Given the description of an element on the screen output the (x, y) to click on. 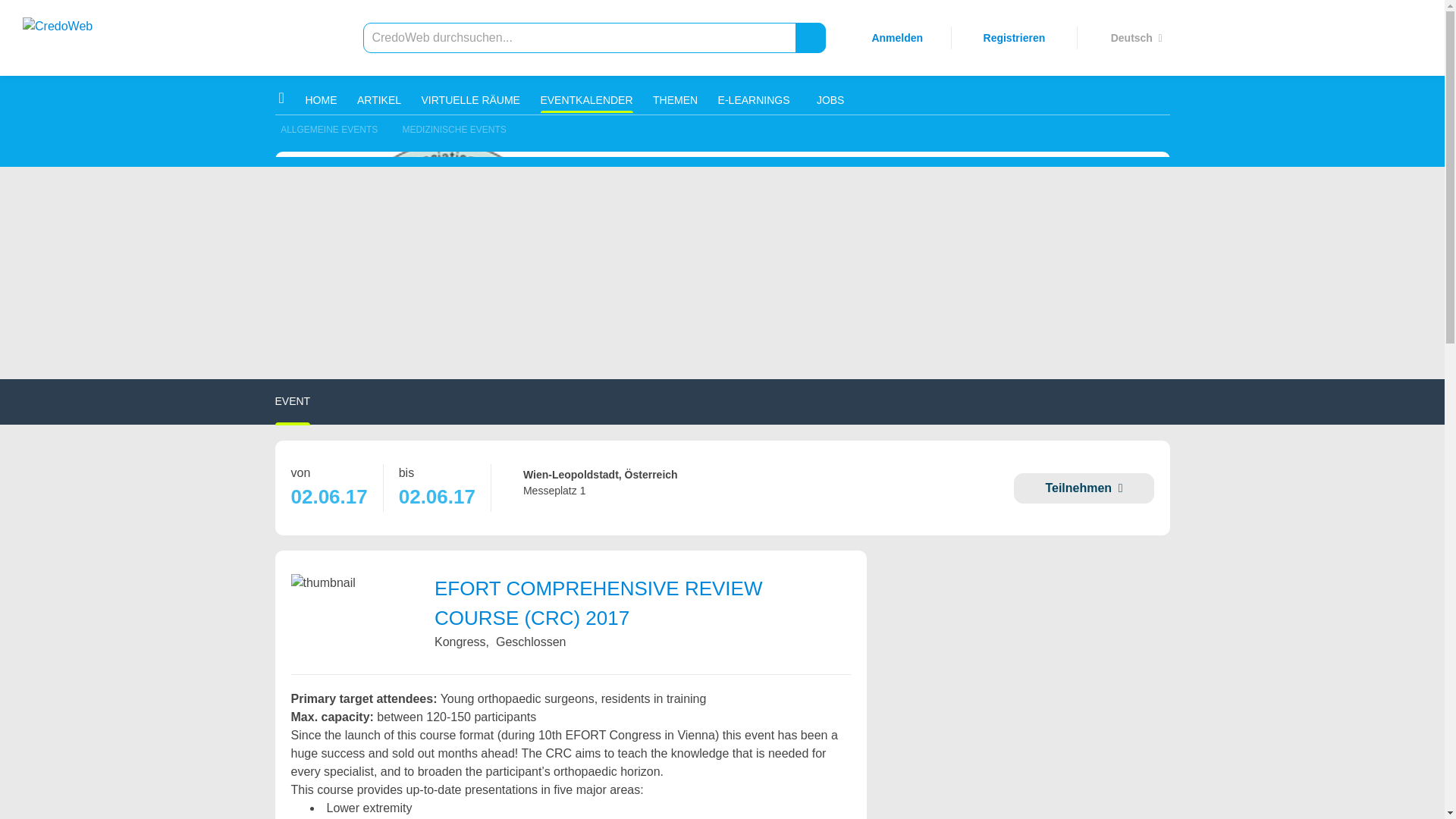
ARTIKEL (378, 100)
EVENTKALENDER (585, 100)
THEMEN (674, 100)
Teilnehmen (1083, 488)
JOBS (826, 100)
HOME (305, 100)
Deutsch (1135, 37)
Artikel (378, 100)
Anmelden (896, 37)
CredoWeb (87, 38)
